Given the description of an element on the screen output the (x, y) to click on. 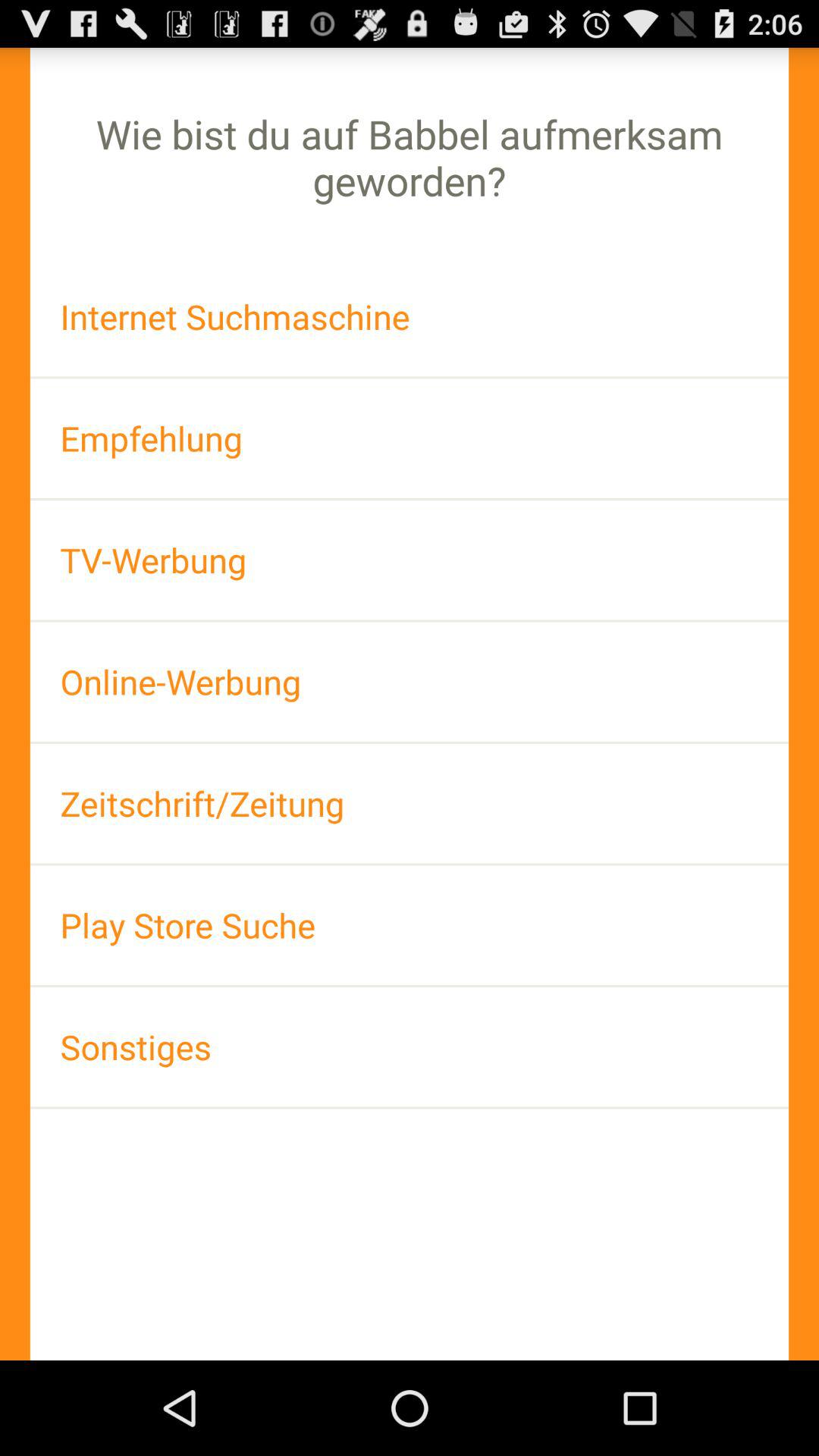
press the item above tv-werbung icon (409, 438)
